Given the description of an element on the screen output the (x, y) to click on. 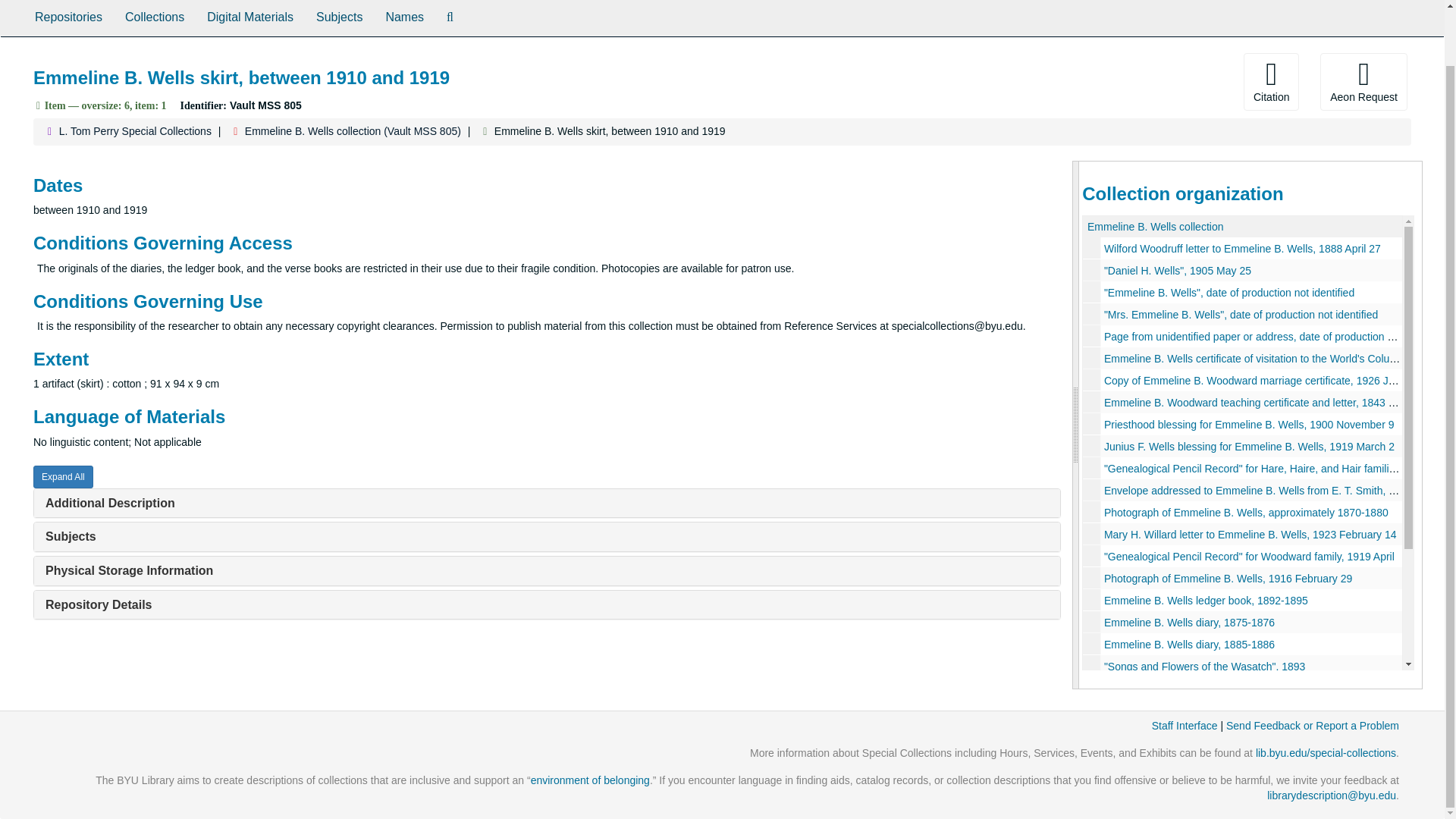
Emmeline B. Woodward teaching certificate and letter (1242, 402)
"Daniel H. Wells" (1242, 270)
Citation (1270, 81)
Additional Description (109, 502)
"Mrs. Emmeline B. Wells", date of production not identified (1240, 314)
"Daniel H. Wells", 1905 May 25 (1176, 270)
Digital Materials (249, 18)
Subjects (339, 18)
Names (404, 18)
Priesthood blessing for Emmeline B. Wells (1242, 423)
Wilford Woodruff letter to Emmeline B. Wells, 1888 April 27 (1241, 248)
Aeon Request (1363, 81)
Page from unidentified paper or address (1242, 336)
Subjects (70, 535)
